Given the description of an element on the screen output the (x, y) to click on. 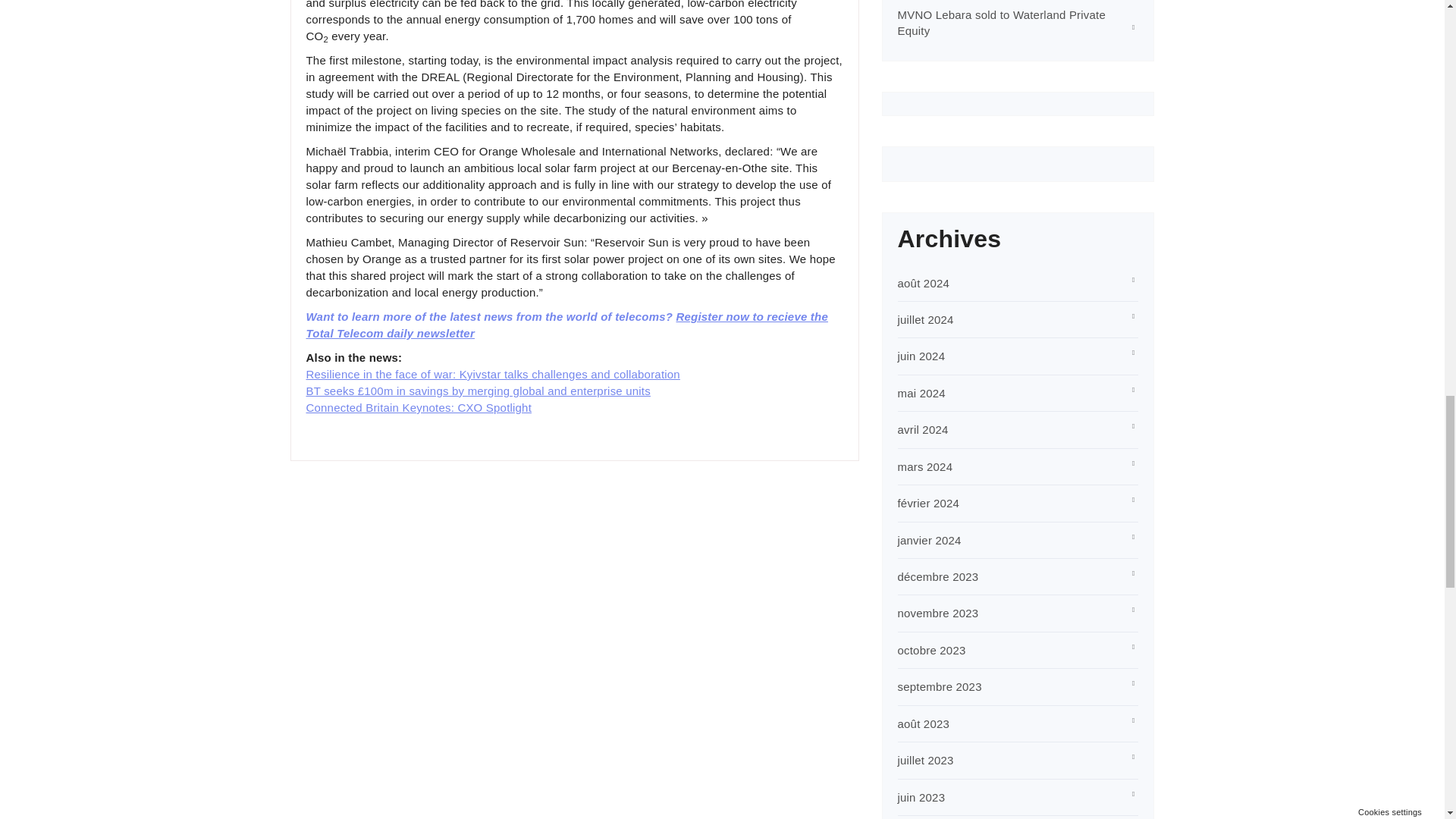
mai 2024 (921, 392)
avril 2024 (923, 429)
juin 2024 (921, 355)
MVNO Lebara sold to Waterland Private Equity  (1001, 22)
Connected Britain Keynotes: CXO Spotlight (418, 407)
juillet 2024 (925, 318)
Register now to recieve the Total Telecom daily newsletter (566, 324)
mars 2024 (925, 466)
